Given the description of an element on the screen output the (x, y) to click on. 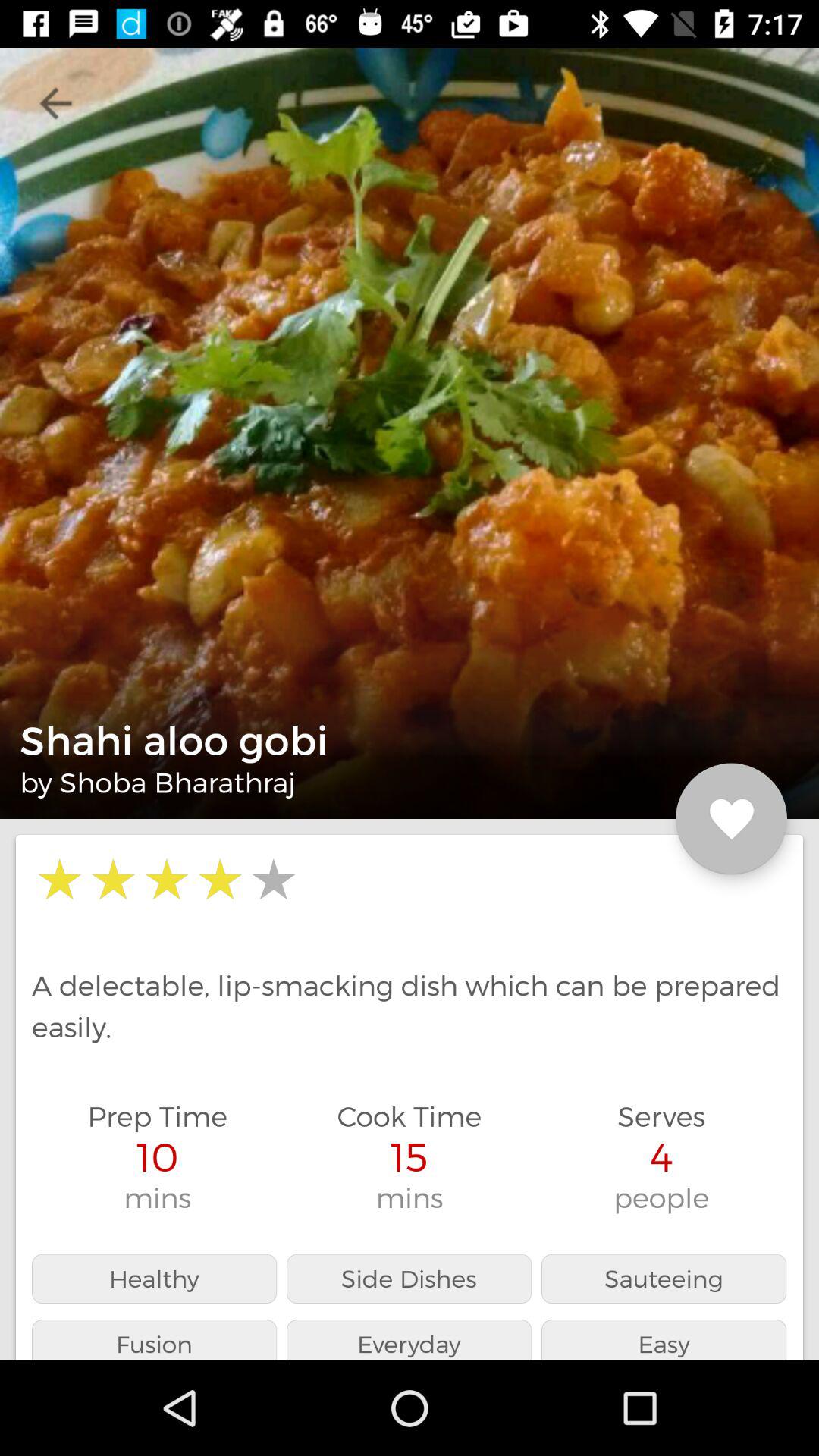
select icon at the top left corner (55, 103)
